Given the description of an element on the screen output the (x, y) to click on. 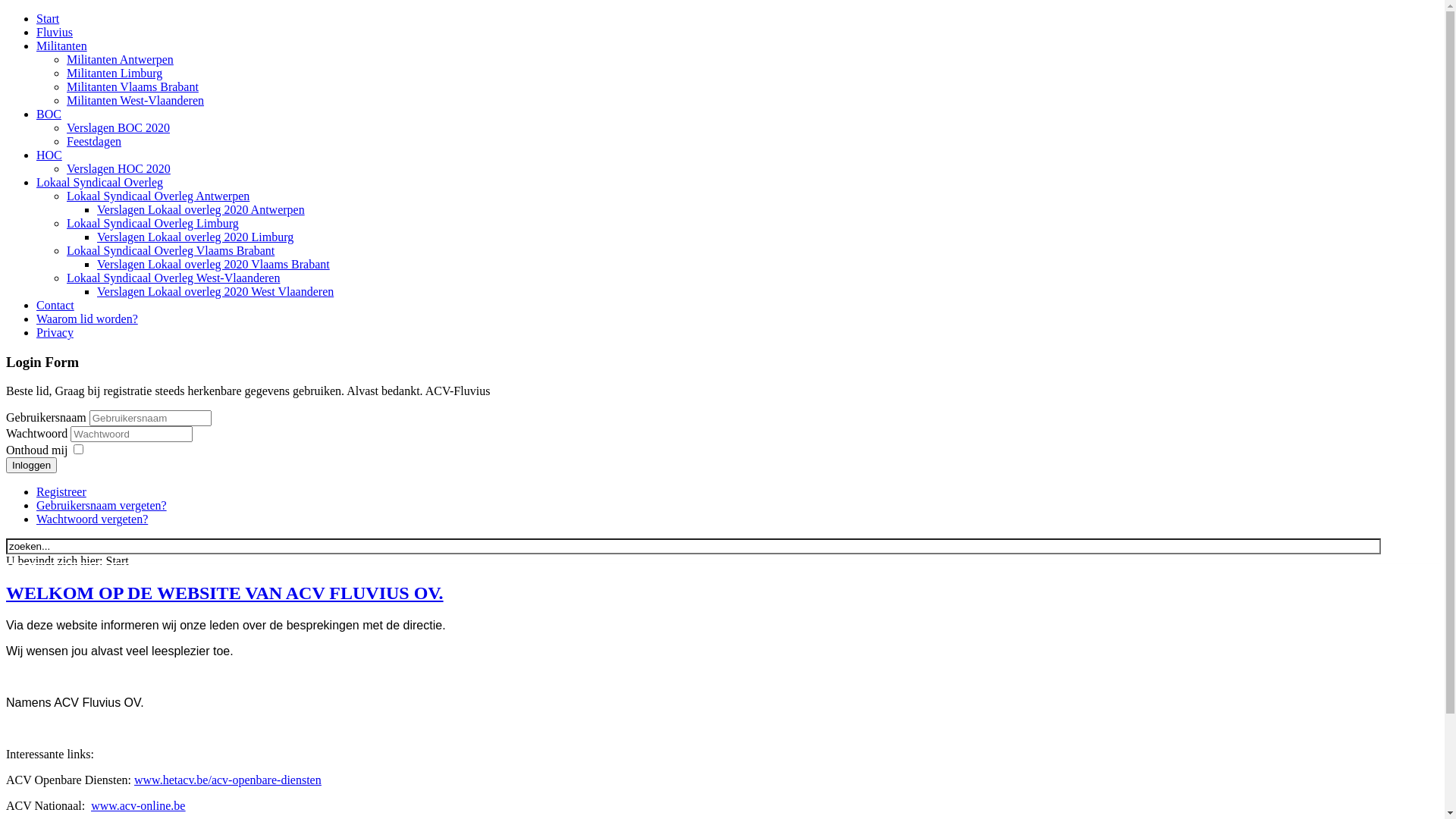
www.hetacv.be/acv-openbare-diensten Element type: text (227, 779)
Wachtwoord vergeten? Element type: text (91, 518)
Verslagen Lokaal overleg 2020 Limburg Element type: text (195, 236)
Waarom lid worden? Element type: text (87, 318)
Inloggen Element type: text (31, 465)
Gebruikersnaam vergeten? Element type: text (101, 504)
WELKOM OP DE WEBSITE VAN ACV FLUVIUS OV. Element type: text (224, 592)
HOC Element type: text (49, 154)
Lokaal Syndicaal Overleg Vlaams Brabant Element type: text (170, 250)
Verslagen BOC 2020 Element type: text (117, 127)
Contact Element type: text (55, 304)
Militanten Limburg Element type: text (114, 72)
Lokaal Syndicaal Overleg Element type: text (99, 181)
Lokaal Syndicaal Overleg West-Vlaanderen Element type: text (172, 277)
Lokaal Syndicaal Overleg Antwerpen Element type: text (157, 195)
Militanten Vlaams Brabant Element type: text (132, 86)
Lokaal Syndicaal Overleg Limburg Element type: text (152, 222)
BOC Element type: text (48, 113)
Feestdagen Element type: text (93, 140)
Verslagen HOC 2020 Element type: text (118, 168)
Militanten West-Vlaanderen Element type: text (134, 100)
www.acv-online.be Element type: text (138, 805)
Militanten Element type: text (61, 45)
Militanten Antwerpen Element type: text (119, 59)
Privacy Element type: text (54, 332)
Verslagen Lokaal overleg 2020 Vlaams Brabant Element type: text (213, 263)
Verslagen Lokaal overleg 2020 Antwerpen Element type: text (200, 209)
Start Element type: text (47, 18)
Registreer Element type: text (61, 491)
Verslagen Lokaal overleg 2020 West Vlaanderen Element type: text (215, 291)
Fluvius Element type: text (54, 31)
